Given the description of an element on the screen output the (x, y) to click on. 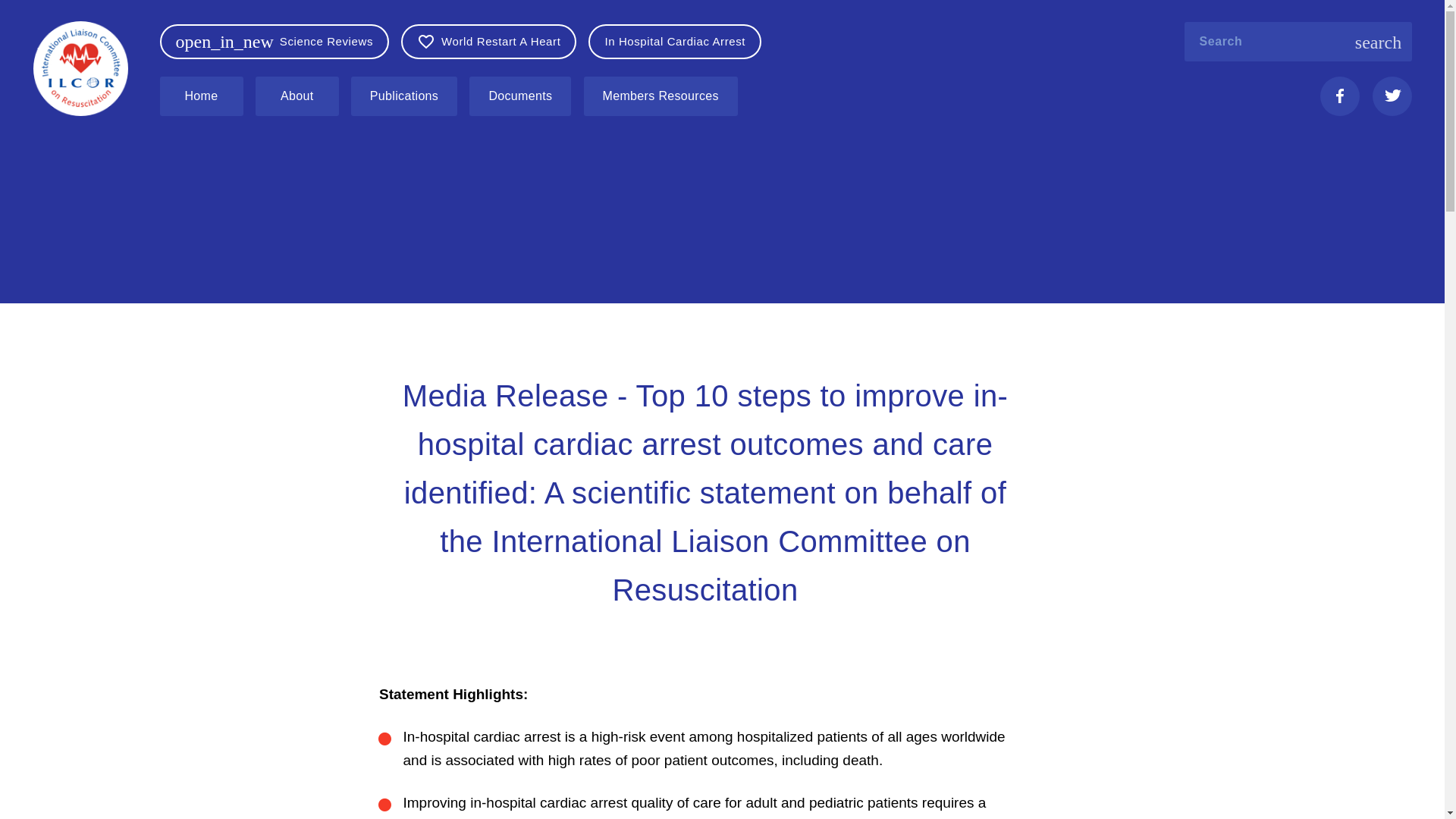
About (301, 95)
Icon Created with Sketch. (1392, 95)
Home (200, 96)
Home (204, 95)
About (297, 96)
World Restart A Heart (494, 41)
In Hospital Cardiac Arrest (680, 41)
Publications (403, 96)
In Hospital Cardiac Arrest (674, 41)
World Restart A Heart (488, 41)
